Given the description of an element on the screen output the (x, y) to click on. 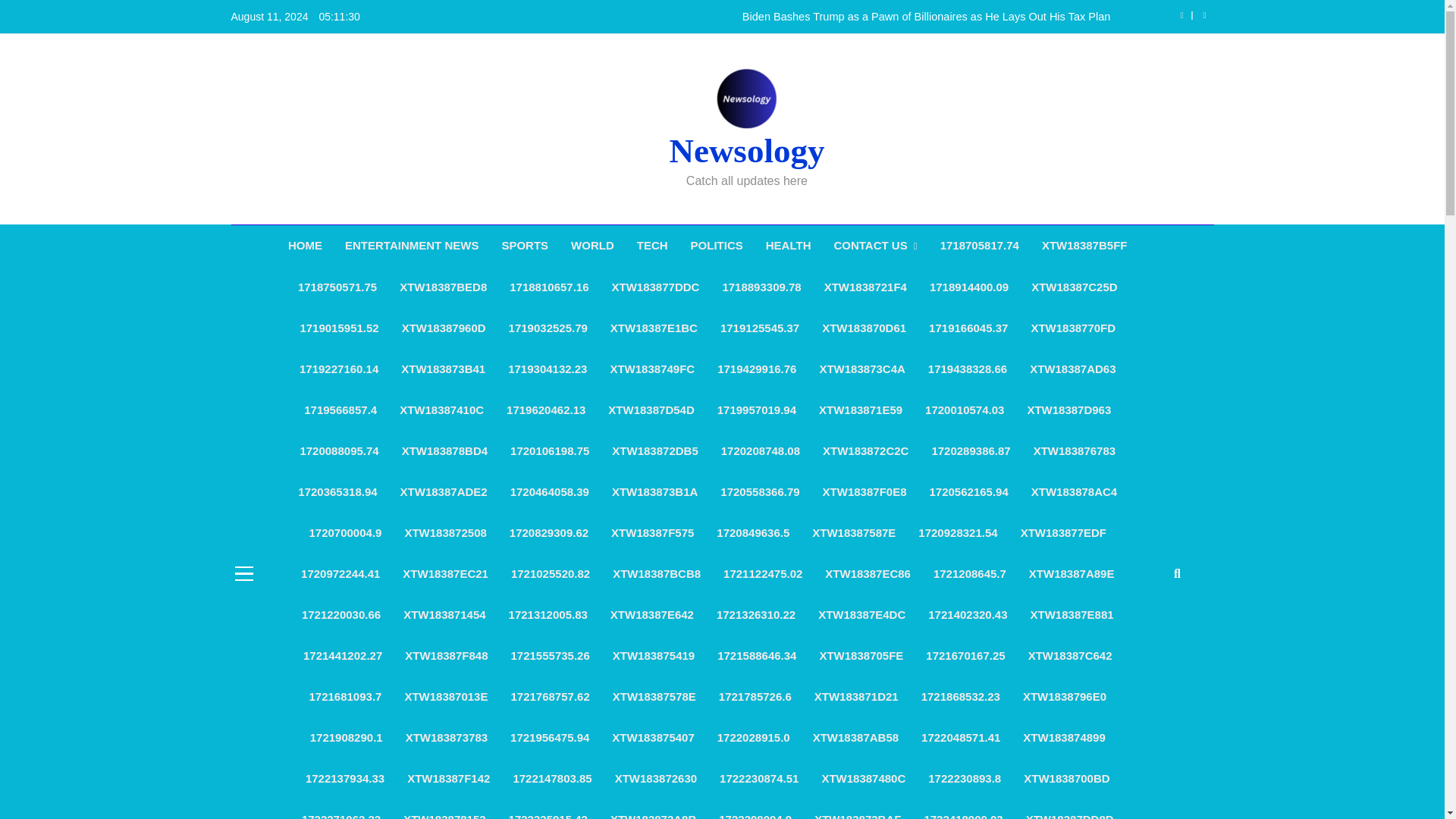
POLITICS (716, 245)
XTW18387BED8 (442, 286)
TECH (652, 245)
CONTACT US (875, 245)
XTW183877DDC (655, 286)
1718893309.78 (761, 286)
Newsology (746, 150)
HOME (304, 245)
ENTERTAINMENT NEWS (411, 245)
